Given the description of an element on the screen output the (x, y) to click on. 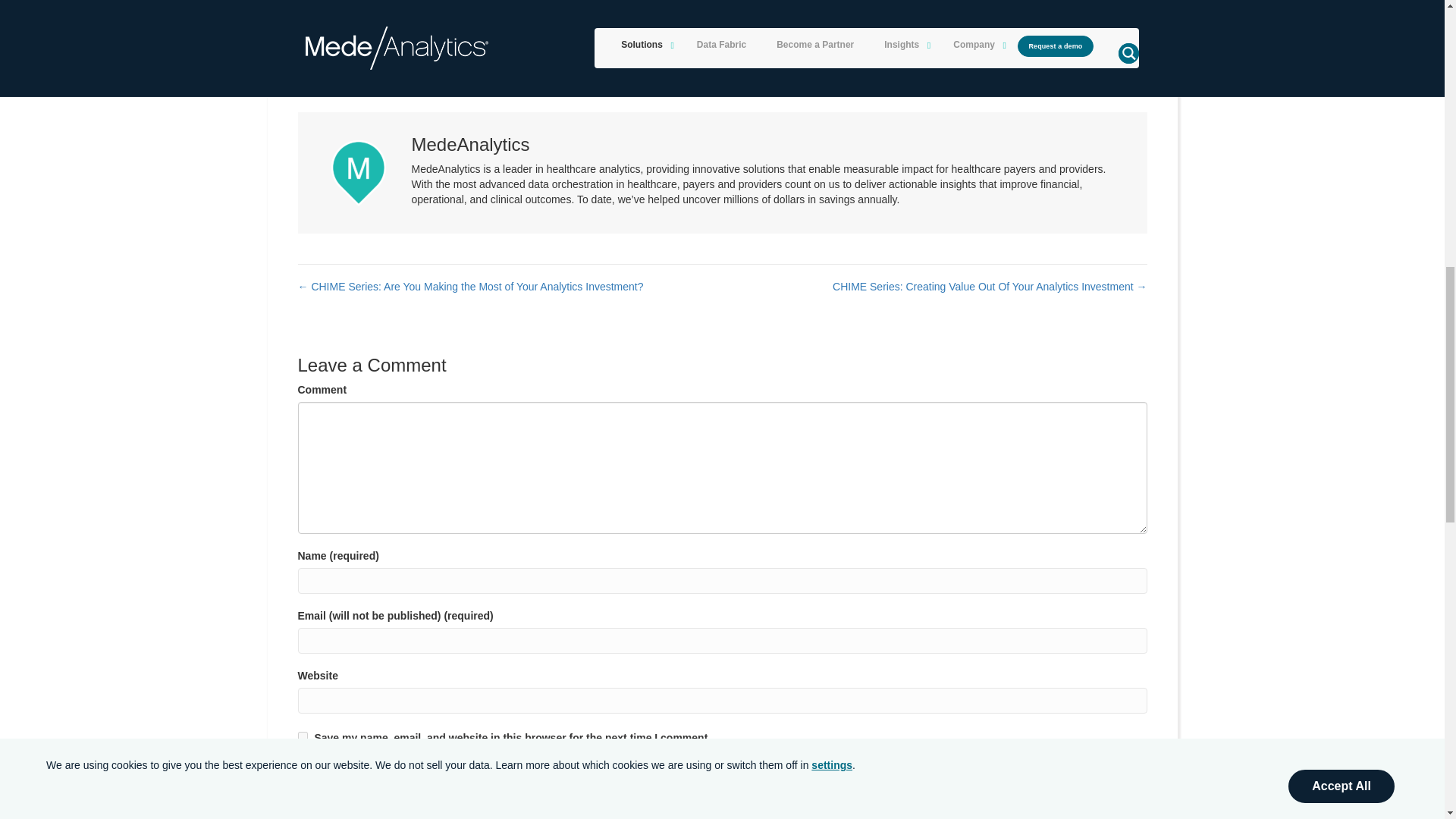
Submit Comment (358, 770)
yes (302, 737)
